Given the description of an element on the screen output the (x, y) to click on. 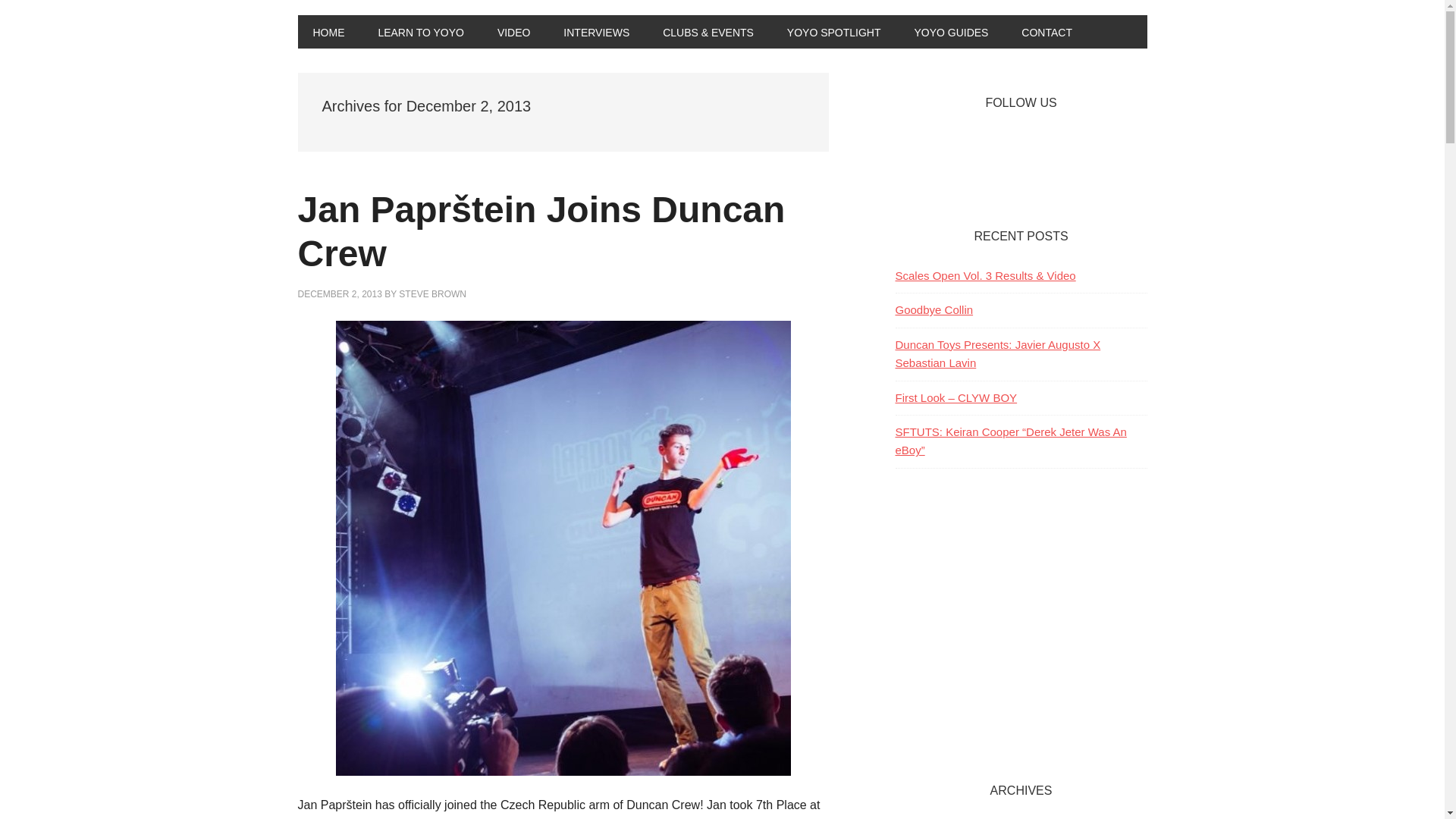
INTERVIEWS (596, 31)
YOYO GUIDES (950, 31)
LEARN TO YOYO (420, 31)
CONTACT (1046, 31)
VIDEO (513, 31)
HOME (328, 31)
YOYO SPOTLIGHT (833, 31)
STEVE BROWN (431, 294)
